Given the description of an element on the screen output the (x, y) to click on. 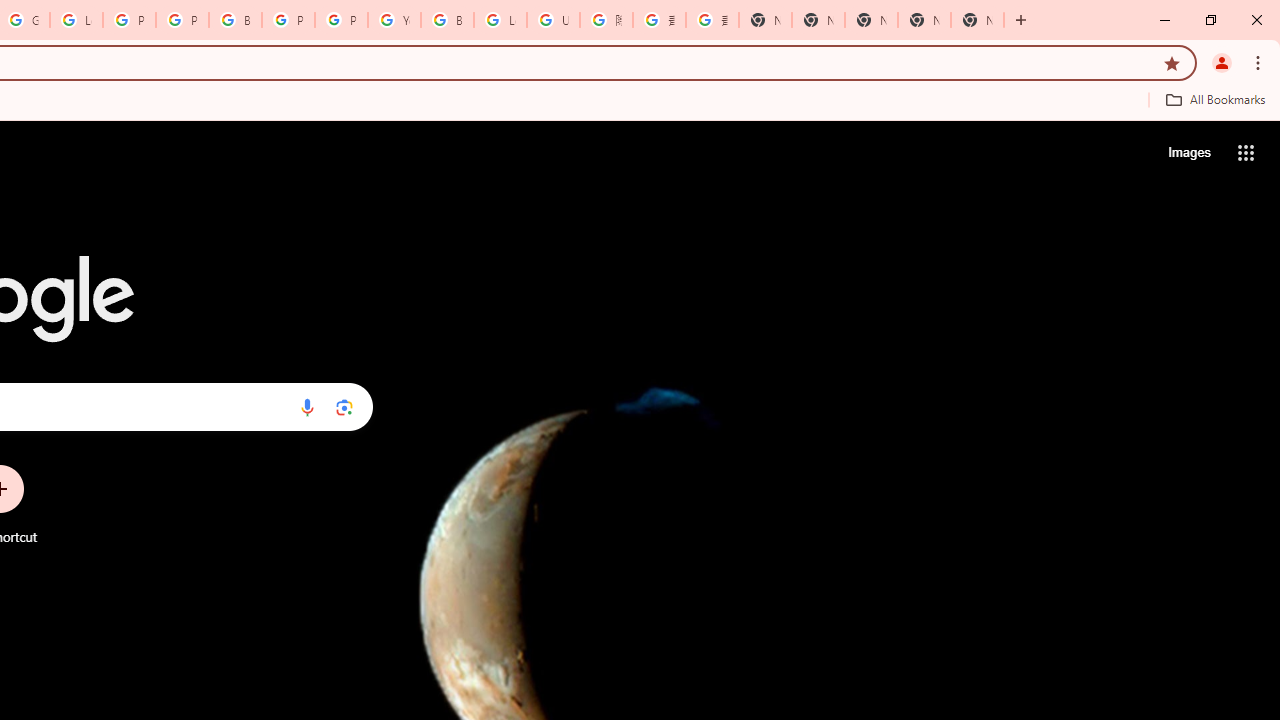
Privacy Help Center - Policies Help (129, 20)
All Bookmarks (1215, 99)
Privacy Help Center - Policies Help (182, 20)
Search by voice (307, 407)
Browse Chrome as a guest - Computer - Google Chrome Help (447, 20)
